Given the description of an element on the screen output the (x, y) to click on. 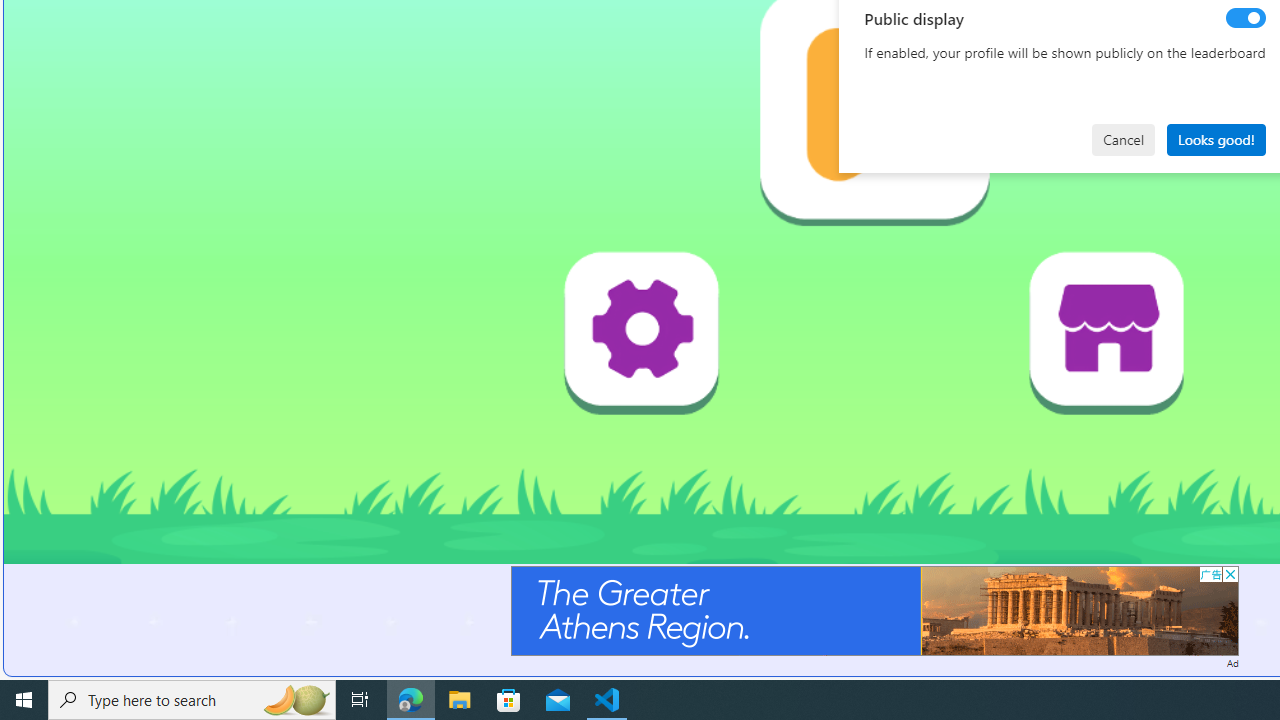
Cancel (1123, 139)
Advertisement (874, 610)
Advertisement (874, 610)
AutomationID: cbb (1229, 574)
Looks good! (1216, 139)
